Given the description of an element on the screen output the (x, y) to click on. 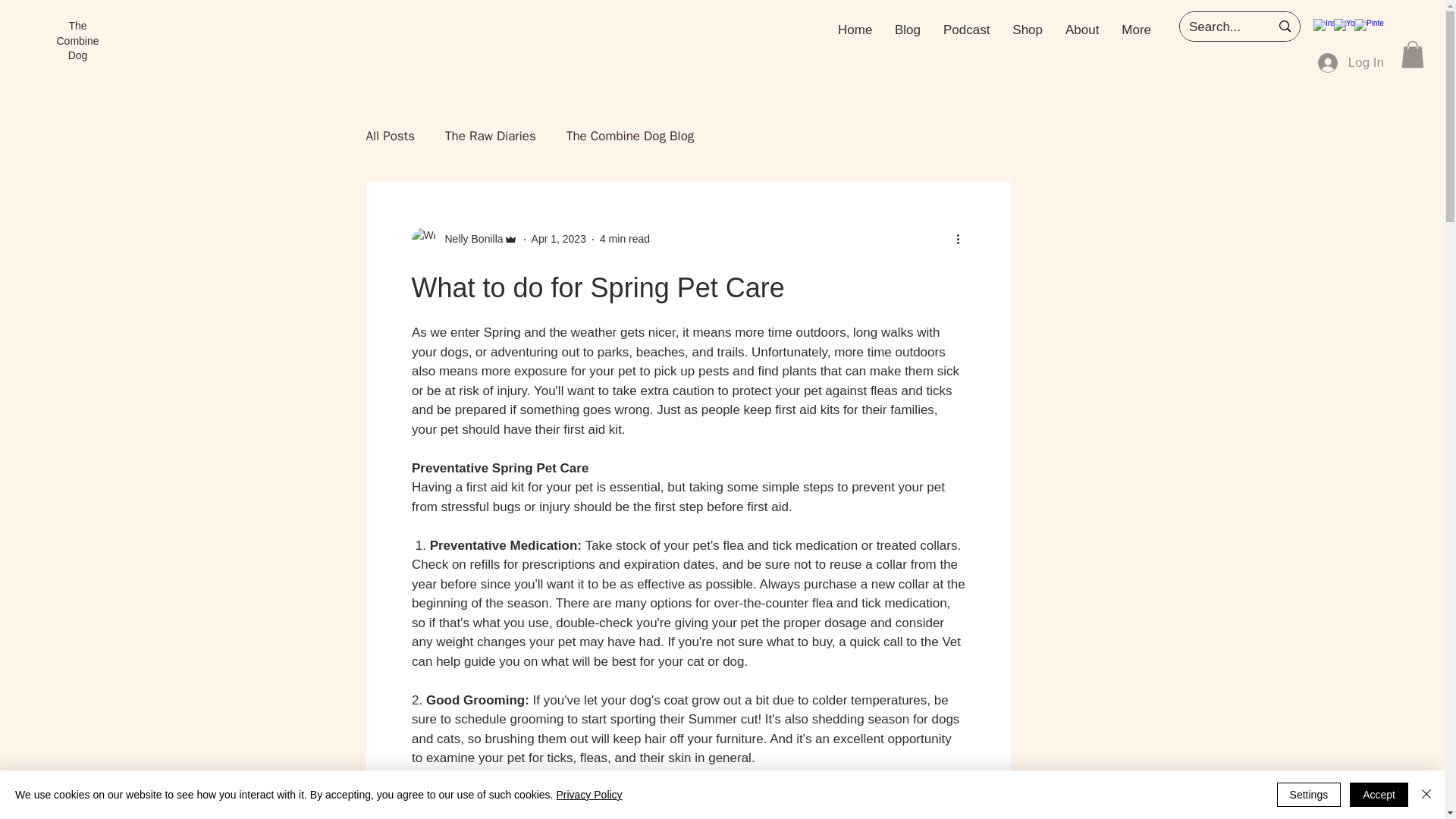
4 min read (624, 238)
About (1081, 30)
The Raw Diaries (490, 135)
Log In (1350, 62)
Podcast (966, 30)
Nelly Bonilla (468, 238)
Blog (907, 30)
Shop (1027, 30)
Apr 1, 2023 (558, 238)
Home (855, 30)
